Given the description of an element on the screen output the (x, y) to click on. 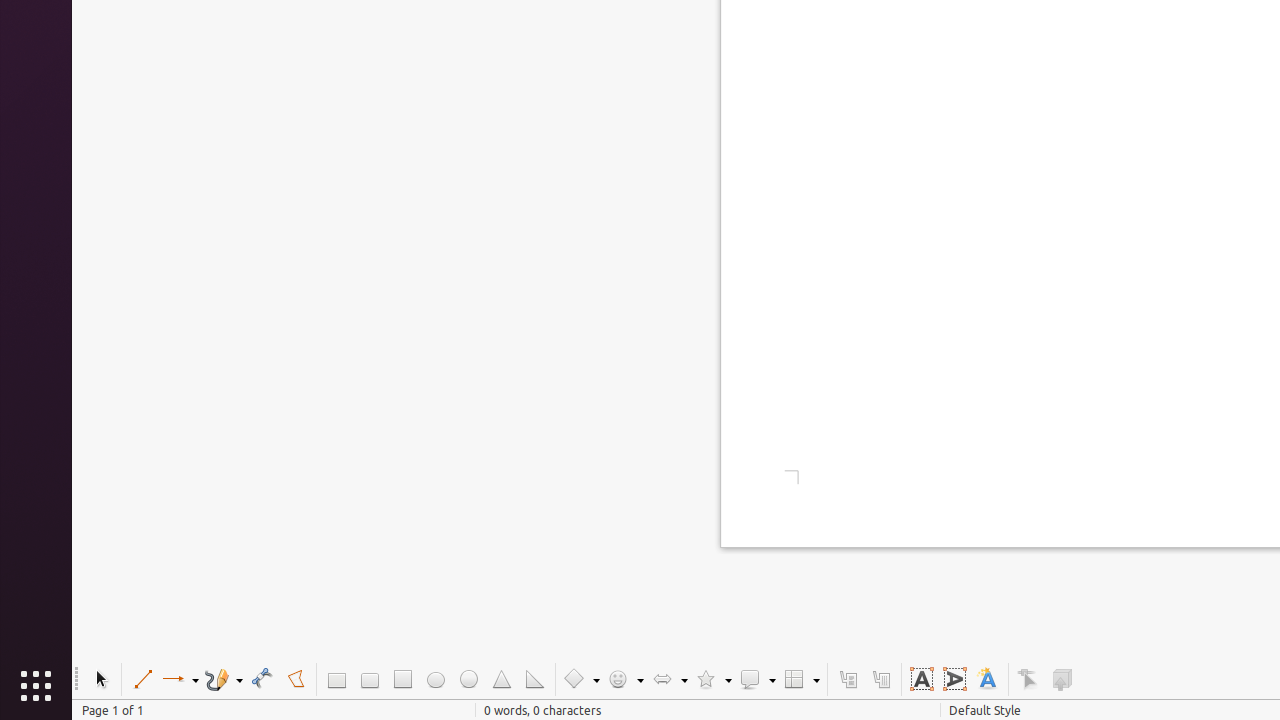
Callout Shapes Element type: push-button (757, 679)
Arrow Shapes Element type: push-button (669, 679)
Vertical Text Element type: toggle-button (954, 679)
Square Element type: push-button (402, 679)
Line Element type: push-button (141, 679)
